Given the description of an element on the screen output the (x, y) to click on. 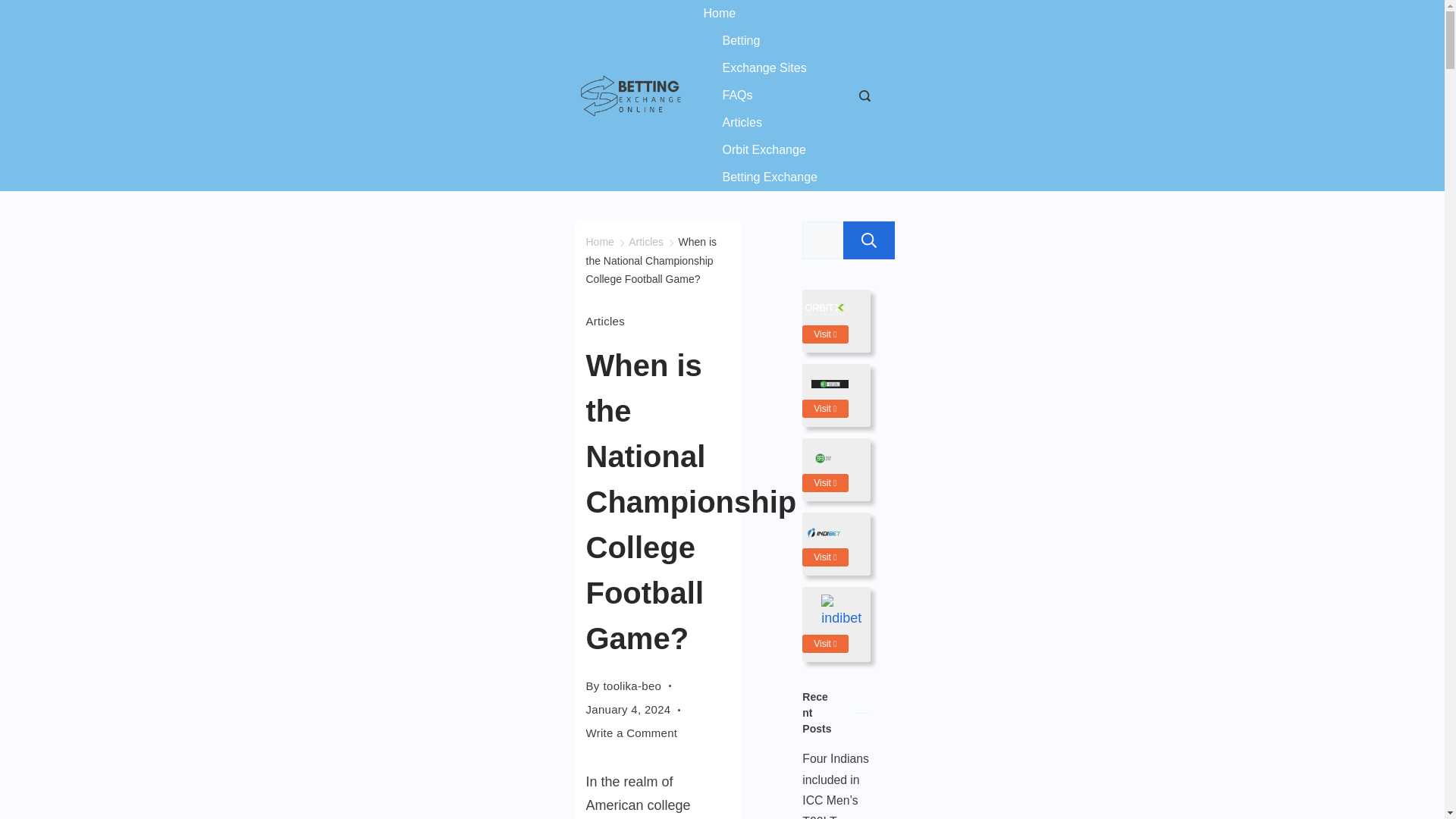
toolika-beo (633, 685)
Articles (741, 122)
Betting Exchange Sites (765, 54)
Home (729, 13)
FAQs (737, 94)
Articles (604, 320)
When is the National Championship College Football Game? (650, 260)
Articles (645, 241)
Orbit Exchange (764, 149)
Home (598, 241)
Betting Exchange (759, 176)
